Given the description of an element on the screen output the (x, y) to click on. 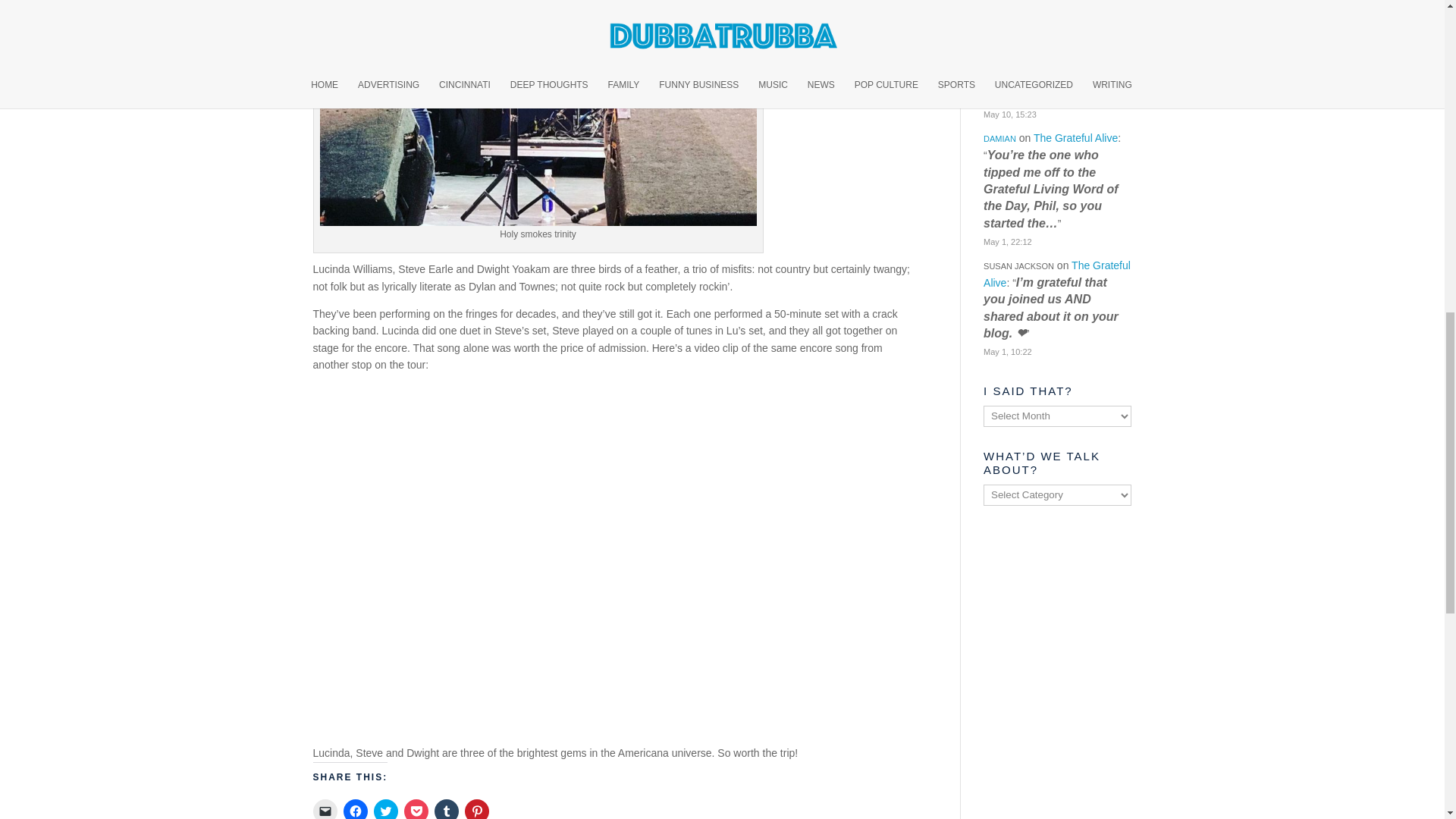
Click to share on Tumblr (445, 809)
Click to share on Pocket (415, 809)
Click to email a link to a friend (324, 809)
Click to share on Facebook (354, 809)
Click to share on Twitter (384, 809)
Click to share on Pinterest (475, 809)
